Given the description of an element on the screen output the (x, y) to click on. 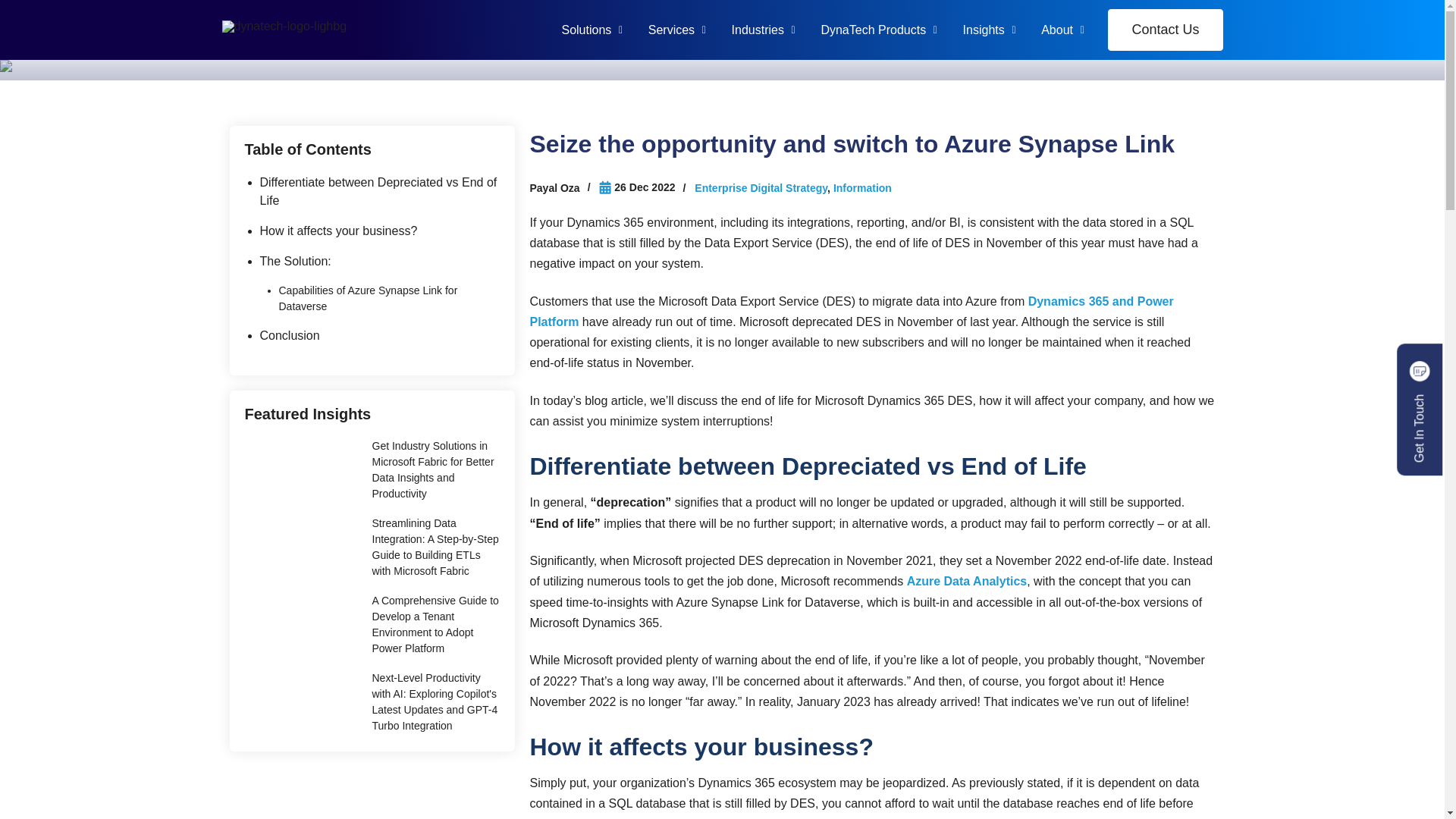
Solutions (585, 29)
Services (671, 29)
